Given the description of an element on the screen output the (x, y) to click on. 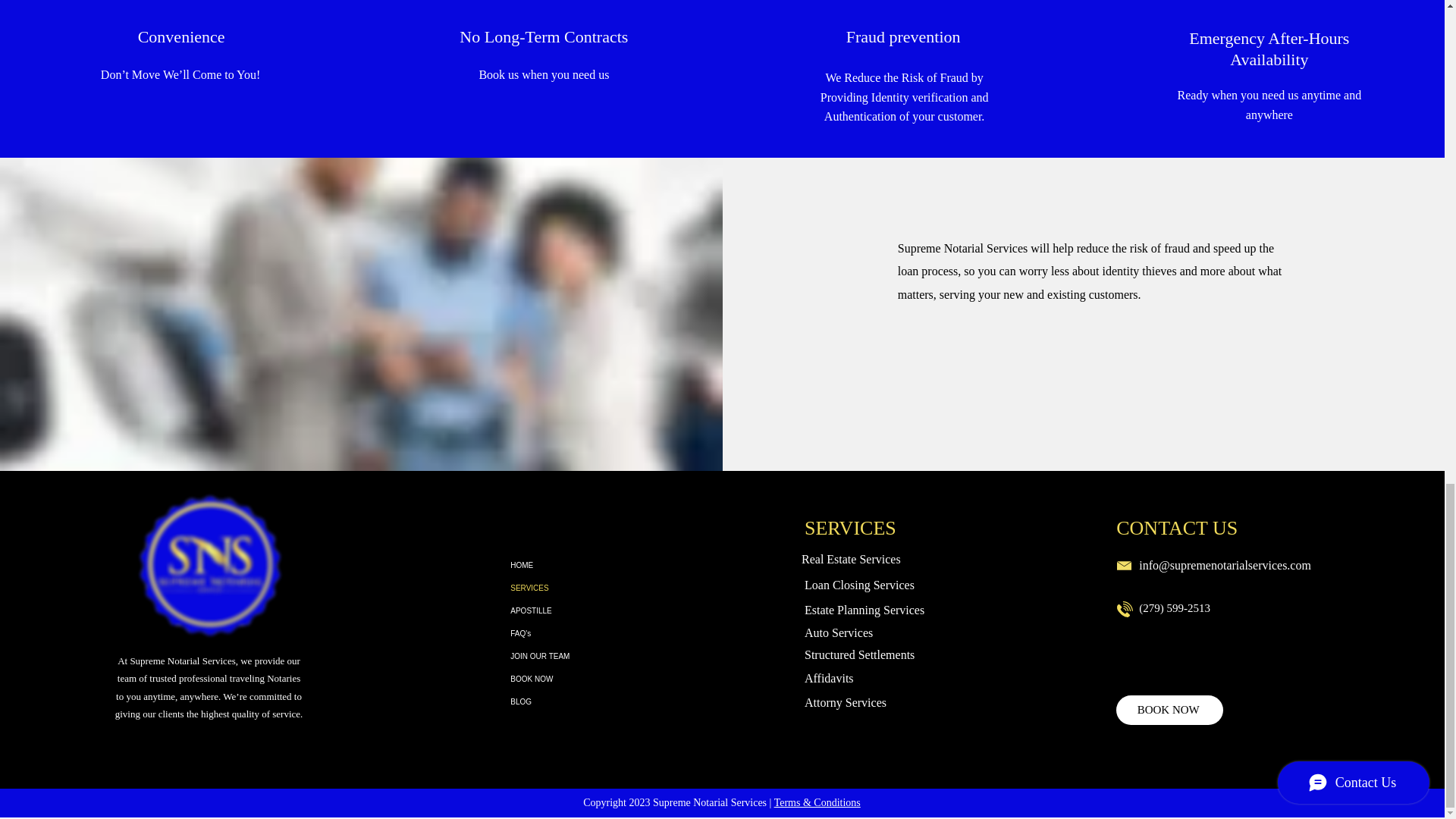
BLOG (584, 702)
HOME (584, 565)
Loan Closing Services (859, 584)
Real Estate Services (851, 558)
BOOK NOW (584, 679)
JOIN OUR TEAM (584, 656)
SERVICES (584, 588)
APOSTILLE (584, 610)
FAQ's (584, 633)
